Given the description of an element on the screen output the (x, y) to click on. 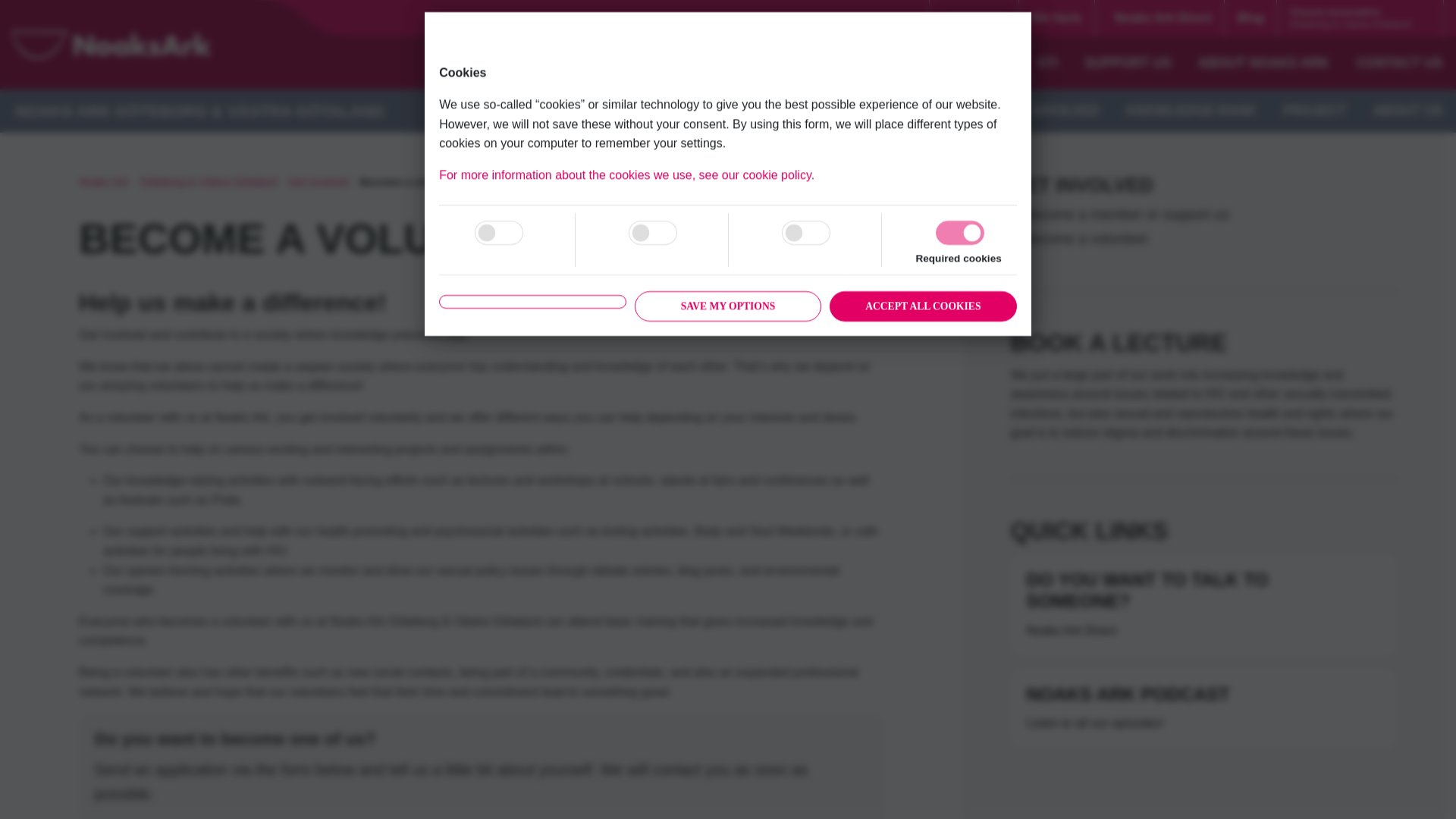
Languages (974, 17)
KNOWLEDGE BANK (1190, 110)
Noaks Ark (103, 182)
GOING ON (939, 110)
STI (1047, 62)
SUPPORT US (1128, 62)
HIV (1000, 62)
analytics (498, 232)
SAVE MY OPTIONS (728, 327)
PROJECT (1314, 110)
FOR YOU (931, 62)
Become a volunteer (411, 182)
required (960, 232)
Noaks Ark Direct (1159, 18)
FOR YOU (848, 110)
